Given the description of an element on the screen output the (x, y) to click on. 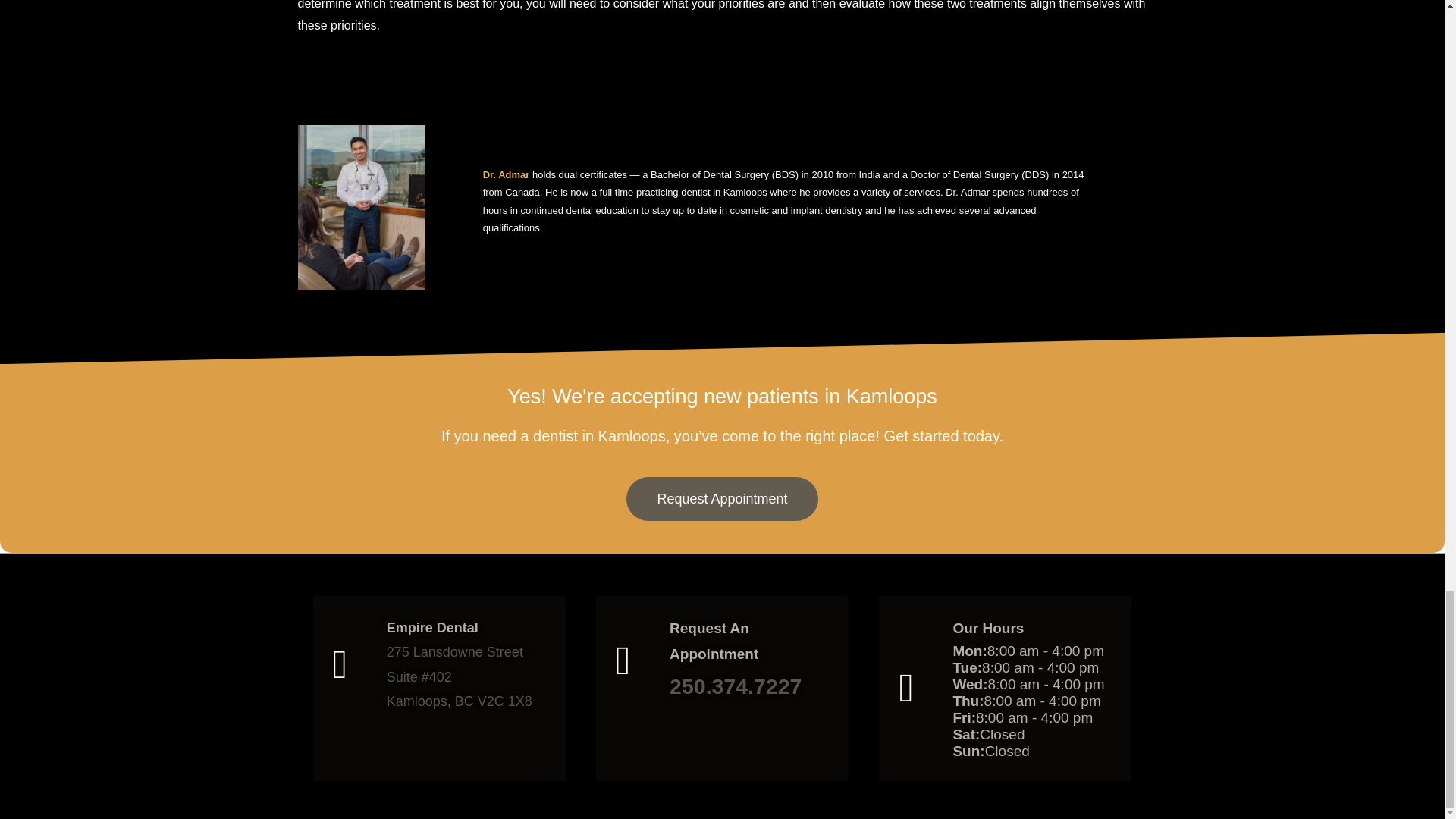
Request Appointment (721, 498)
Dr. Admar (506, 174)
